Given the description of an element on the screen output the (x, y) to click on. 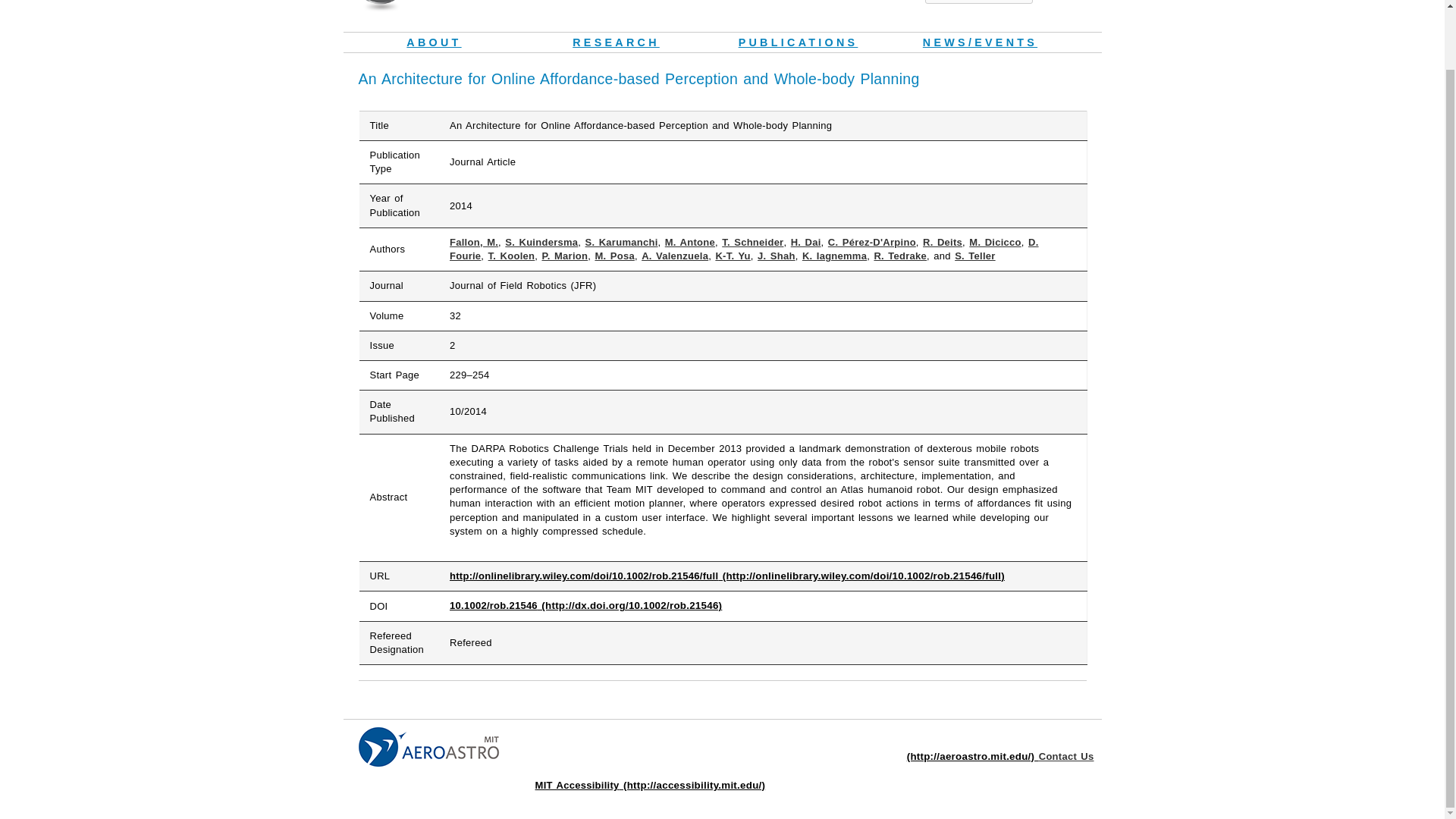
J. Shah (775, 255)
M. Posa (613, 255)
M. Antone (689, 242)
K. Iagnemma (834, 255)
Enter the terms you wish to search for. (978, 2)
D. Fourie (744, 248)
ABOUT (433, 42)
Contact Us (1066, 756)
R. Tedrake (899, 255)
S. Karumanchi (621, 242)
